Given the description of an element on the screen output the (x, y) to click on. 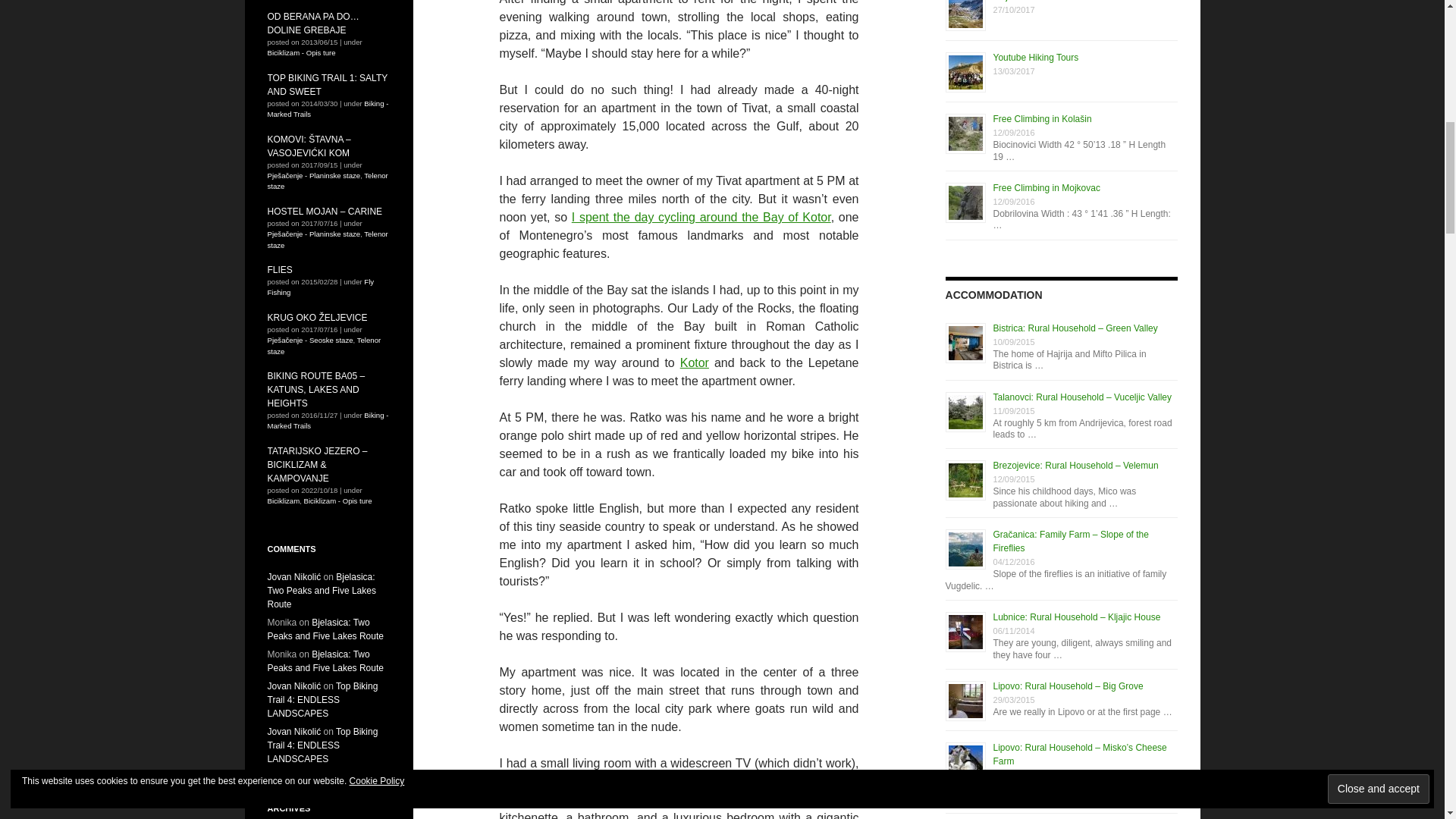
Kotor Montenegro (694, 362)
Cycling from Croatia to Montenegro (701, 216)
